Given the description of an element on the screen output the (x, y) to click on. 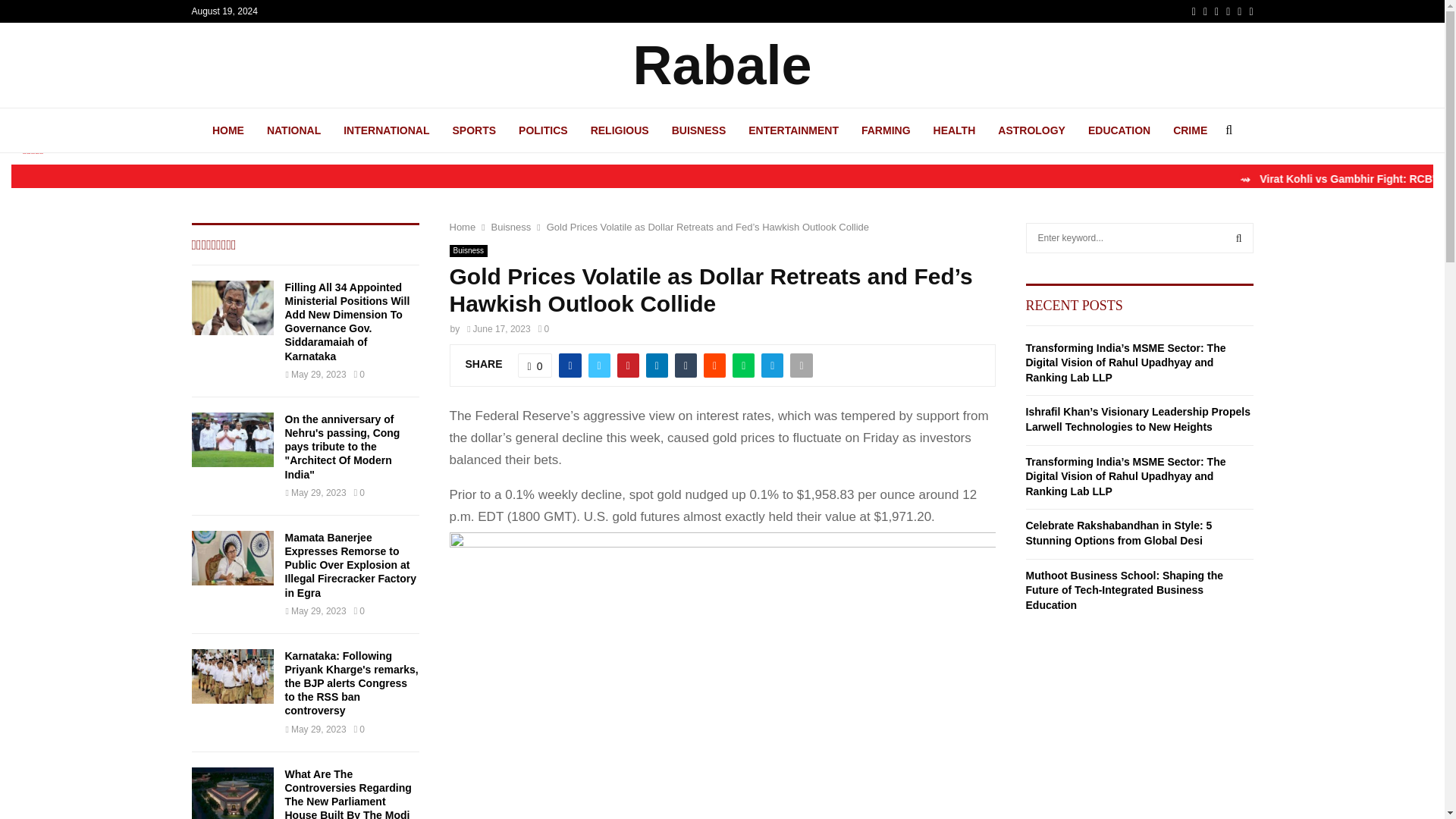
INTERNATIONAL (386, 130)
Buisness (467, 250)
NATIONAL (293, 130)
ASTROLOGY (1031, 130)
EDUCATION (1118, 130)
ENTERTAINMENT (793, 130)
FARMING (886, 130)
Buisness (511, 226)
Like (535, 364)
HEALTH (954, 130)
